Given the description of an element on the screen output the (x, y) to click on. 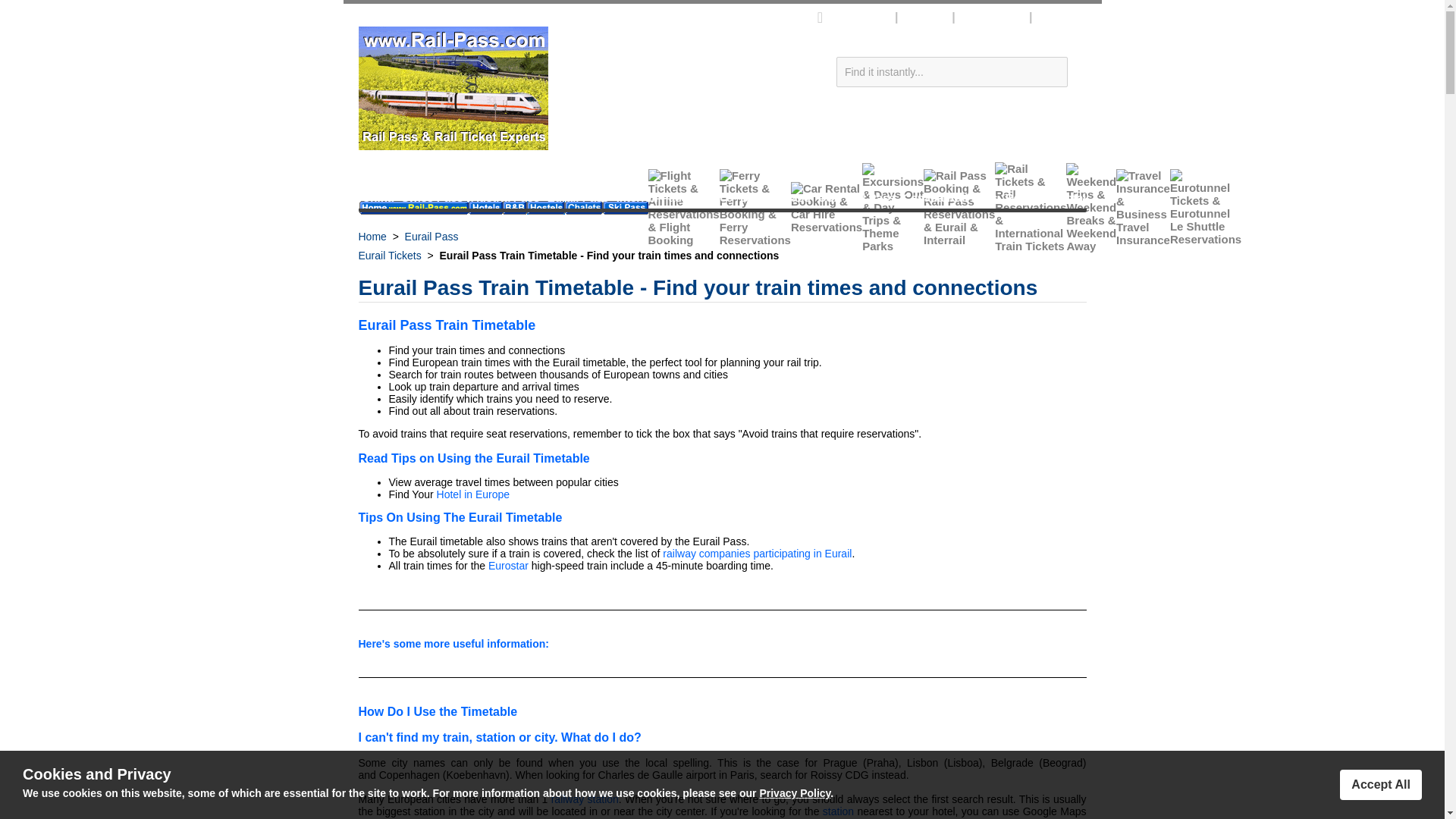
Eurostar (507, 565)
Home (371, 236)
station (837, 811)
Go (1080, 78)
Hotel in Europe (408, 245)
railway station (473, 494)
railway companies participating in Eurail (584, 799)
